Given the description of an element on the screen output the (x, y) to click on. 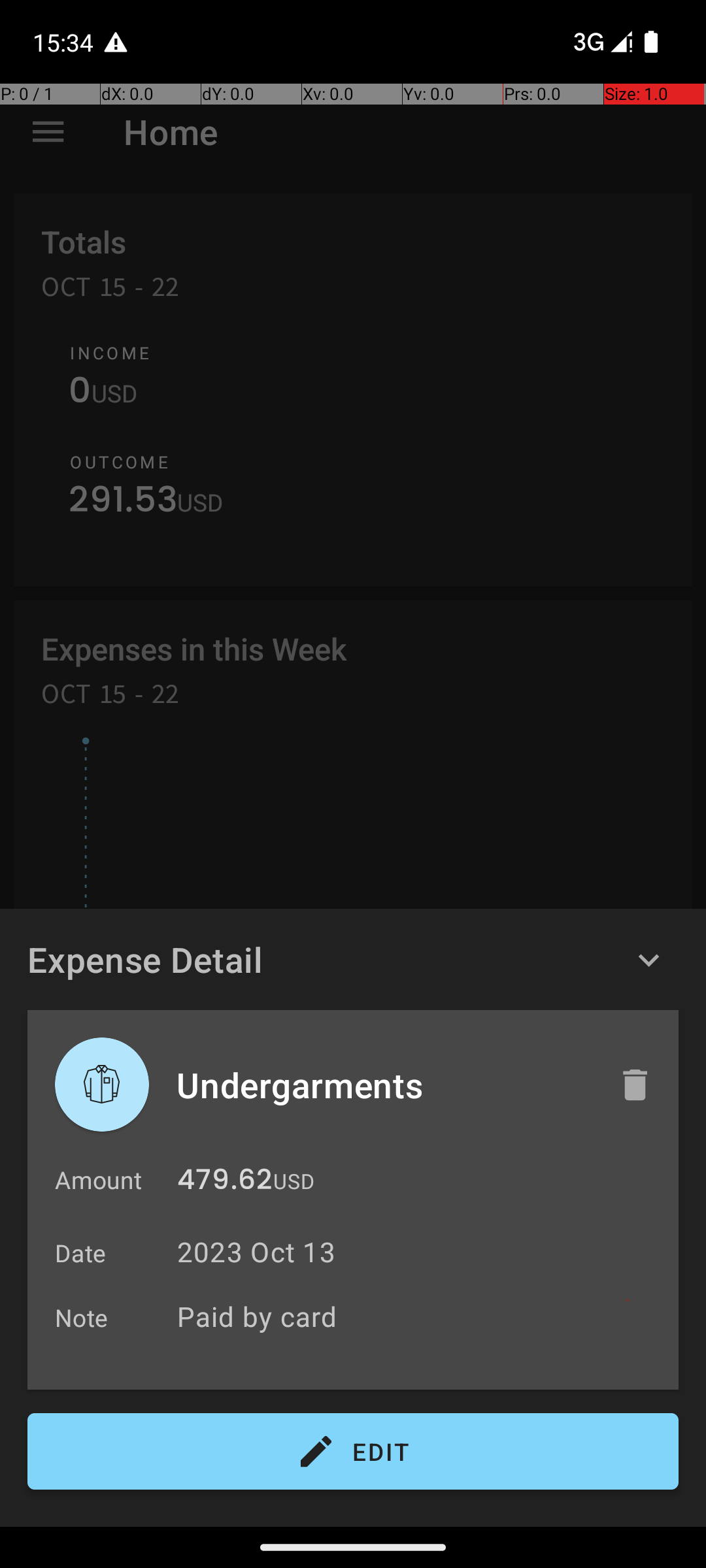
Expense Detail Element type: android.widget.TextView (145, 959)
Undergarments Element type: android.widget.TextView (383, 1084)
Amount Element type: android.widget.TextView (97, 1179)
479.62 Element type: android.widget.TextView (224, 1182)
USD Element type: android.widget.TextView (293, 1180)
Date Element type: android.widget.TextView (80, 1252)
2023 Oct 13 Element type: android.widget.TextView (256, 1251)
Note Element type: android.widget.TextView (81, 1317)
Paid by card Element type: android.widget.TextView (420, 1315)
EDIT Element type: android.widget.Button (352, 1451)
